Given the description of an element on the screen output the (x, y) to click on. 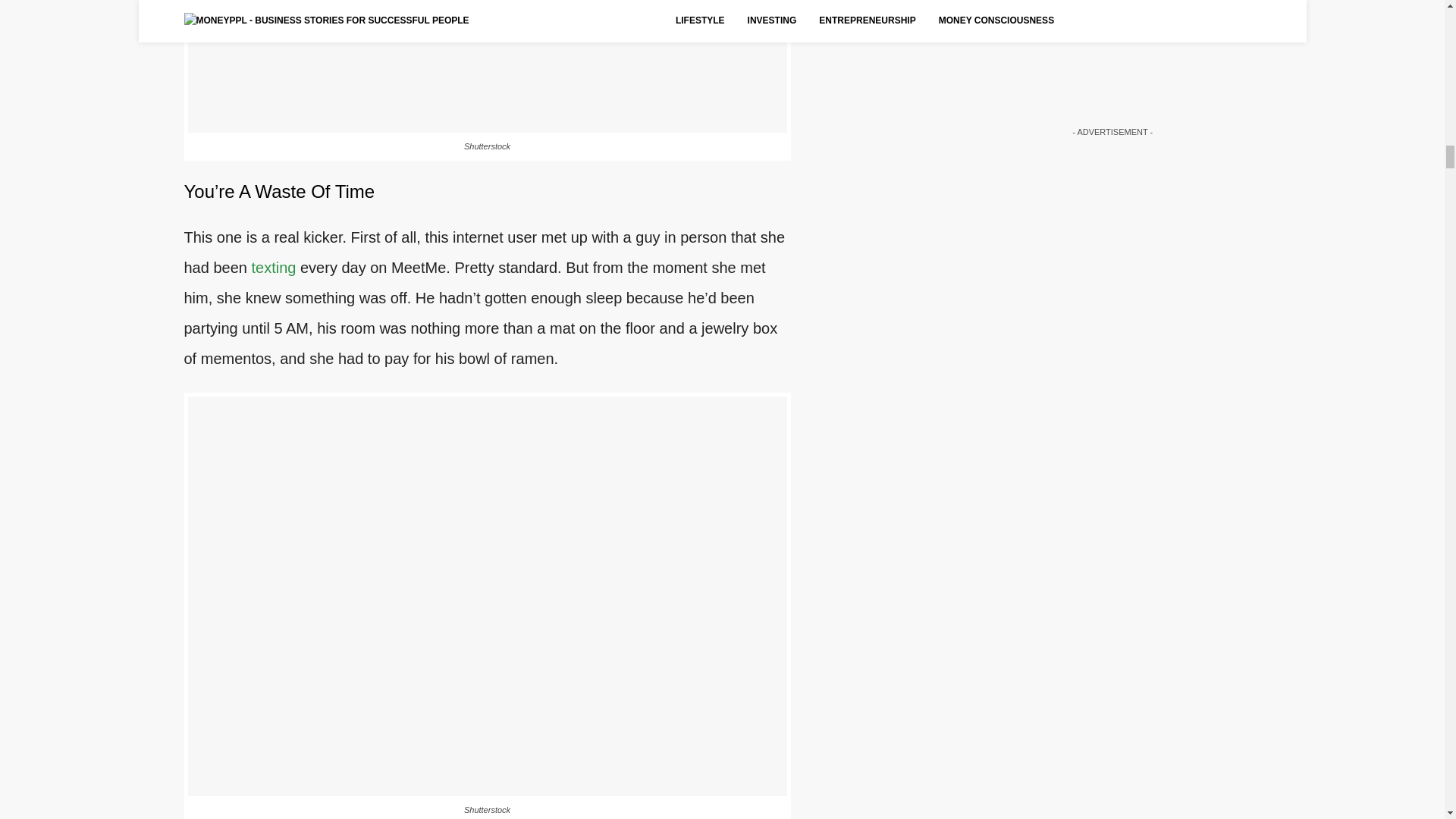
texting (272, 267)
